Given the description of an element on the screen output the (x, y) to click on. 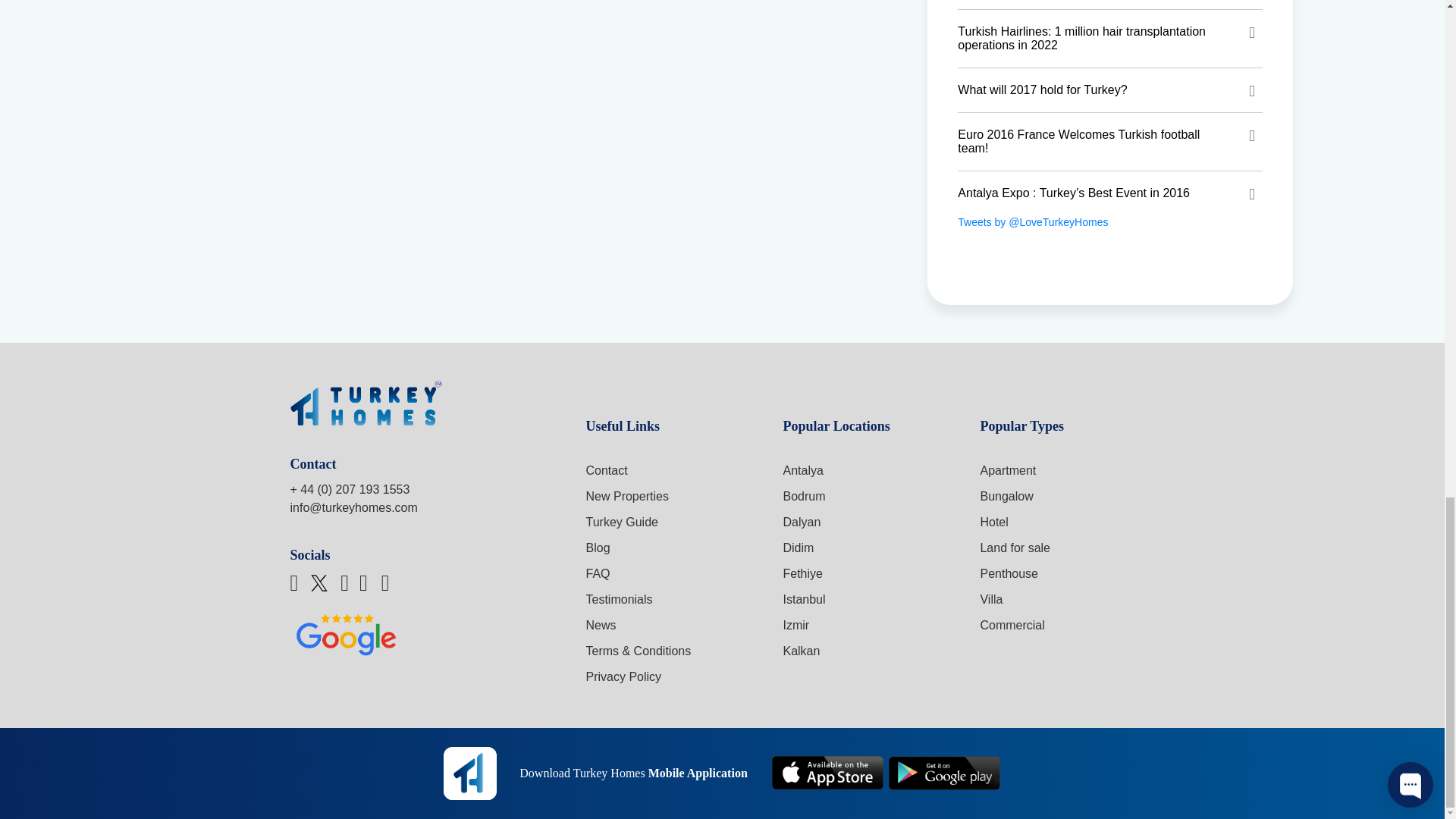
turkey-in-2017 (1110, 89)
euro-2016-france-welcomes-turkish-football-team (1110, 141)
the-tourism-industry-fights-for-turkey (1110, 4)
antalya-expo-turkey-s-best-event-in-2016 (1110, 193)
